Given the description of an element on the screen output the (x, y) to click on. 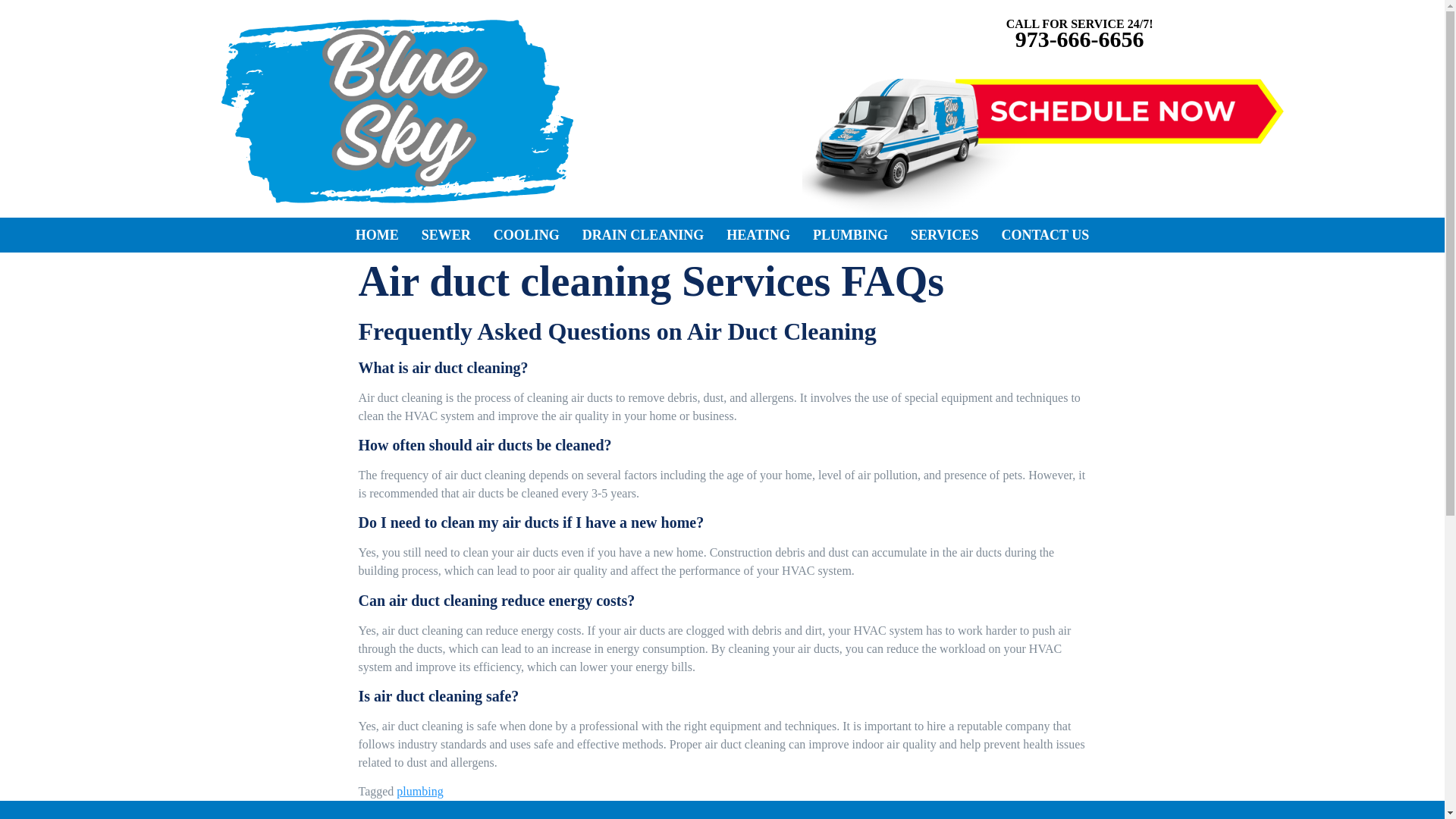
CONTACT US (1045, 234)
HOME (376, 234)
PLUMBING (850, 234)
HEATING (758, 234)
DRAIN CLEANING (643, 234)
SERVICES (944, 234)
COOLING (525, 234)
SEWER (445, 234)
